Given the description of an element on the screen output the (x, y) to click on. 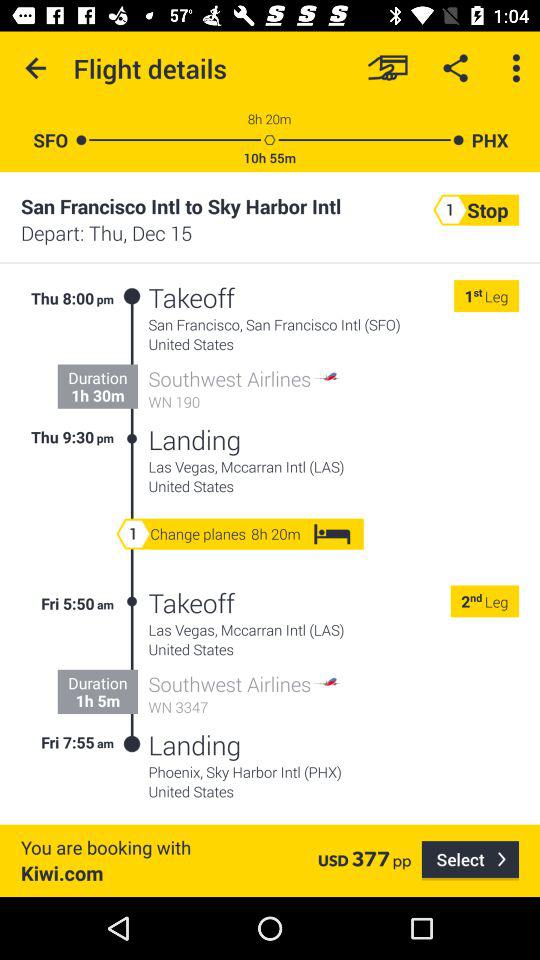
launch icon next to the flight details (36, 68)
